Given the description of an element on the screen output the (x, y) to click on. 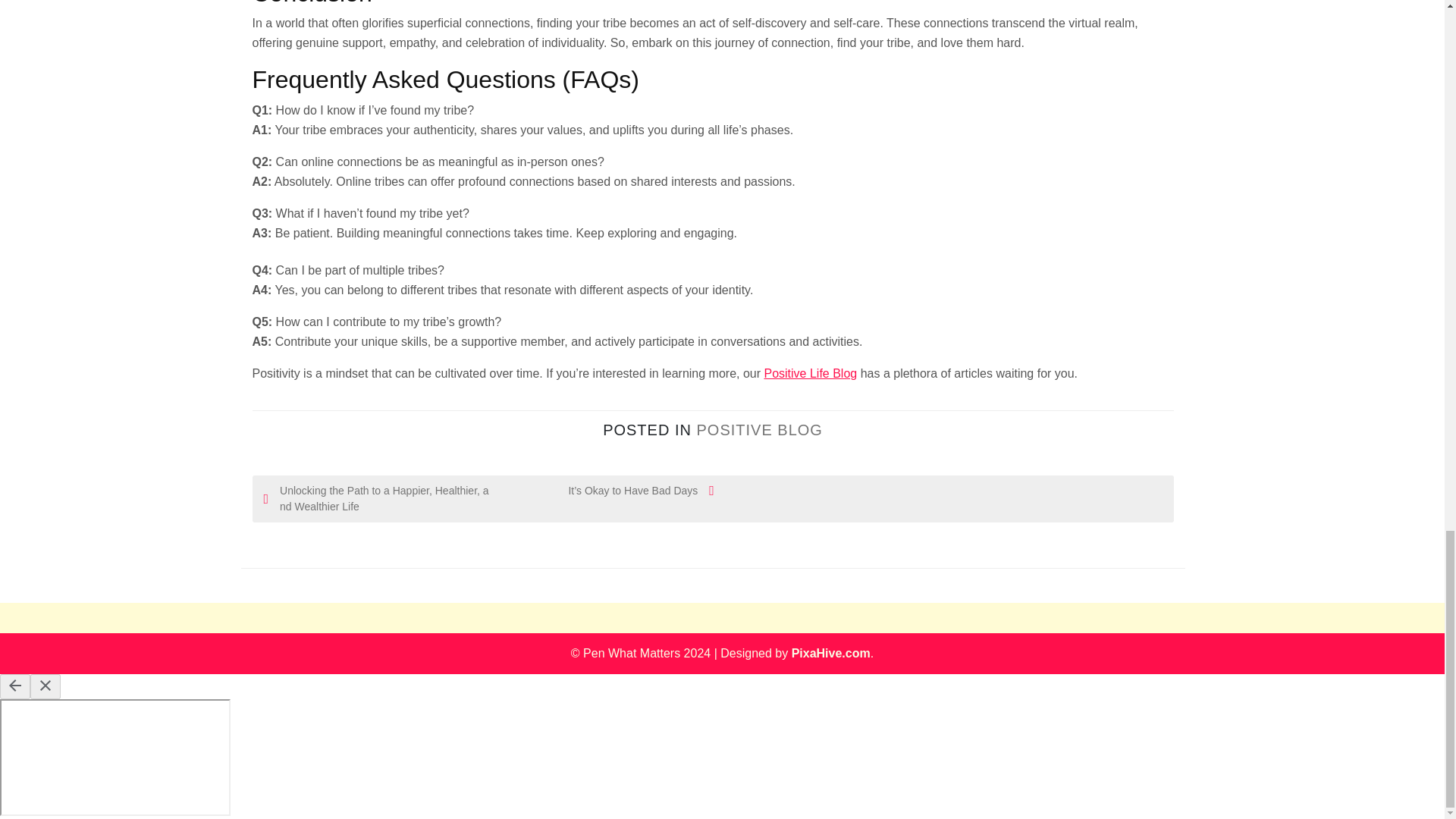
Positive Life Blog (809, 373)
PixaHive.com (831, 653)
POSITIVE BLOG (758, 429)
